Given the description of an element on the screen output the (x, y) to click on. 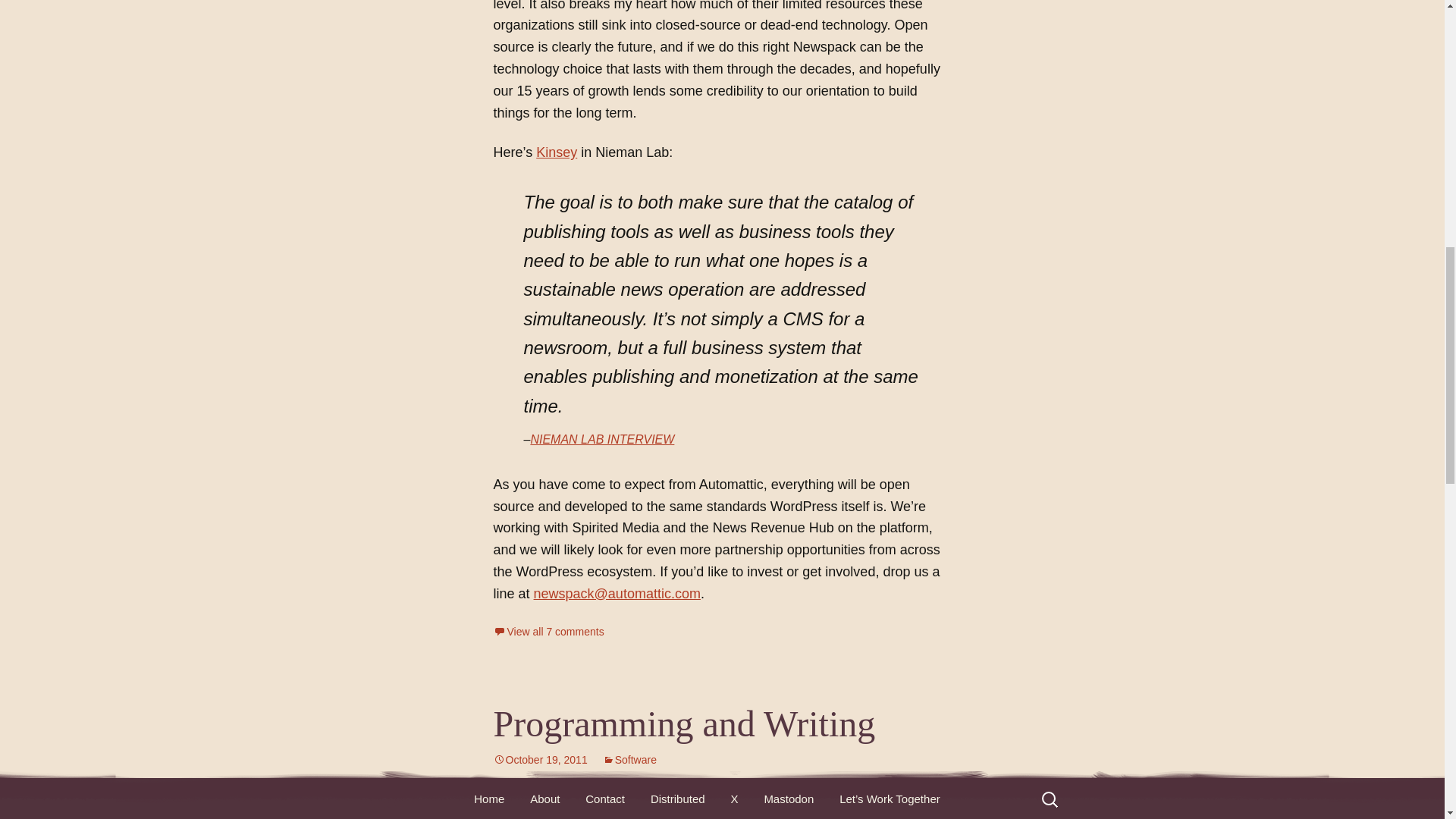
Brent Simmons (729, 801)
Software (629, 759)
October 19, 2011 (539, 759)
Kinsey (555, 151)
View all 7 comments (548, 631)
an interview with John Gruber (710, 806)
NIEMAN LAB INTERVIEW (601, 439)
Programming and Writing (684, 723)
